Given the description of an element on the screen output the (x, y) to click on. 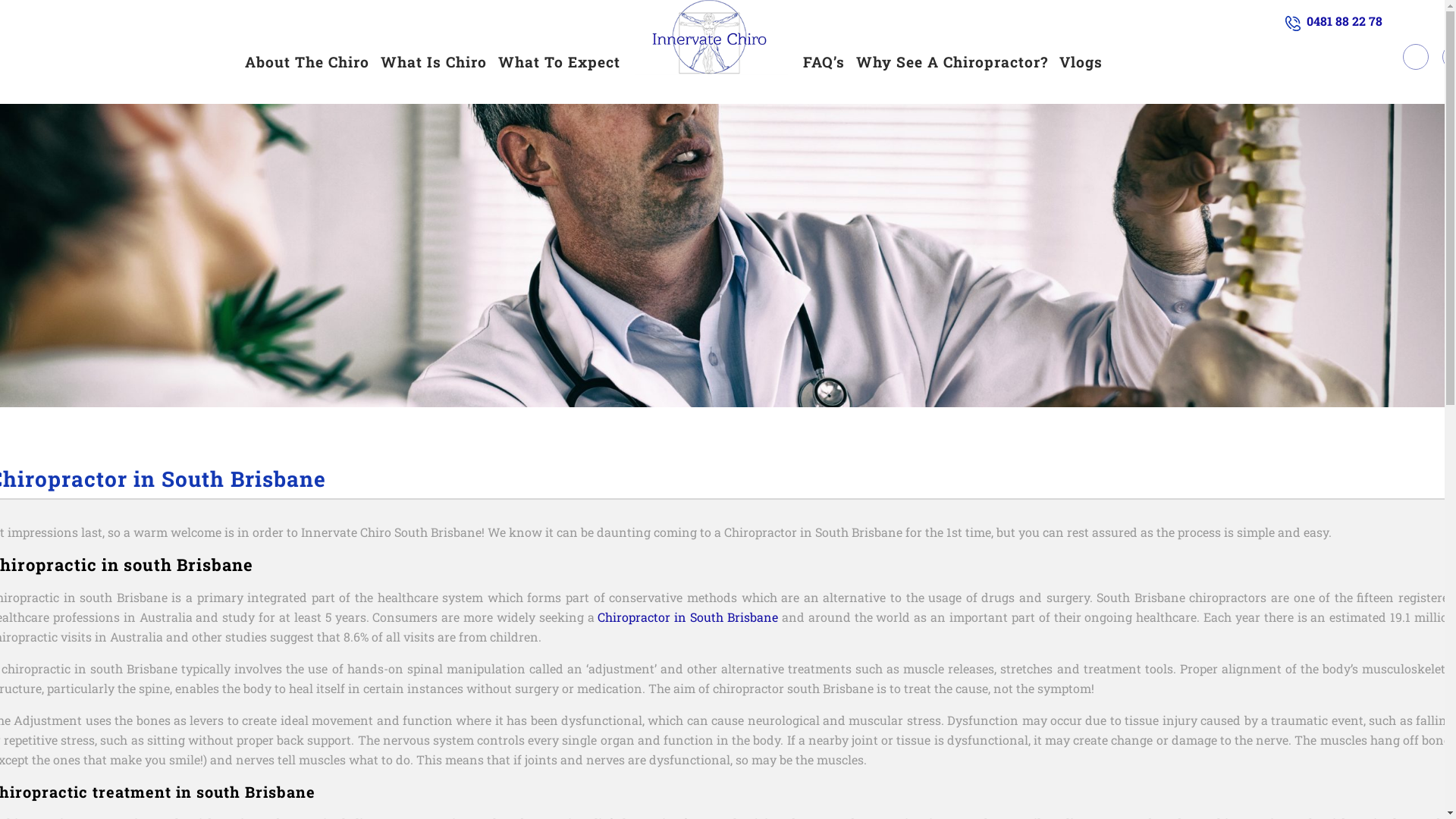
0481 88 22 78 Element type: text (1344, 20)
Vlogs Element type: text (1080, 61)
What To Expect Element type: text (559, 61)
Why See A Chiropractor? Element type: text (952, 61)
Chiropractor in South Brisbane Element type: text (687, 616)
What Is Chiro Element type: text (433, 61)
About The Chiro Element type: text (306, 61)
